Given the description of an element on the screen output the (x, y) to click on. 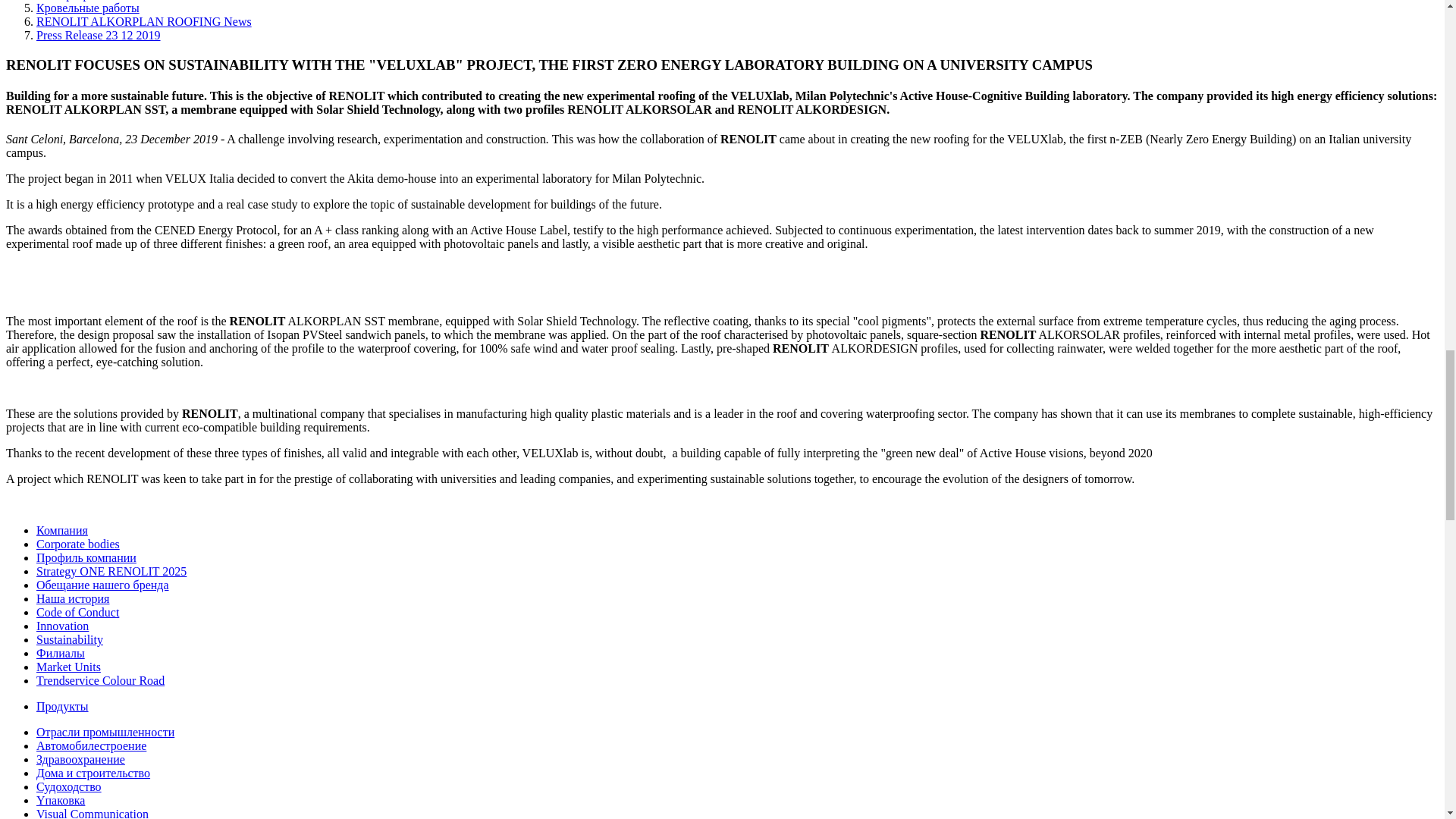
Corporate bodies (77, 543)
Innovation (62, 625)
Trendservice Colour Road (100, 680)
Market Units (68, 666)
Sustainability (69, 639)
Code of Conduct (77, 612)
Strategy ONE RENOLIT 2025 (111, 571)
